Given the description of an element on the screen output the (x, y) to click on. 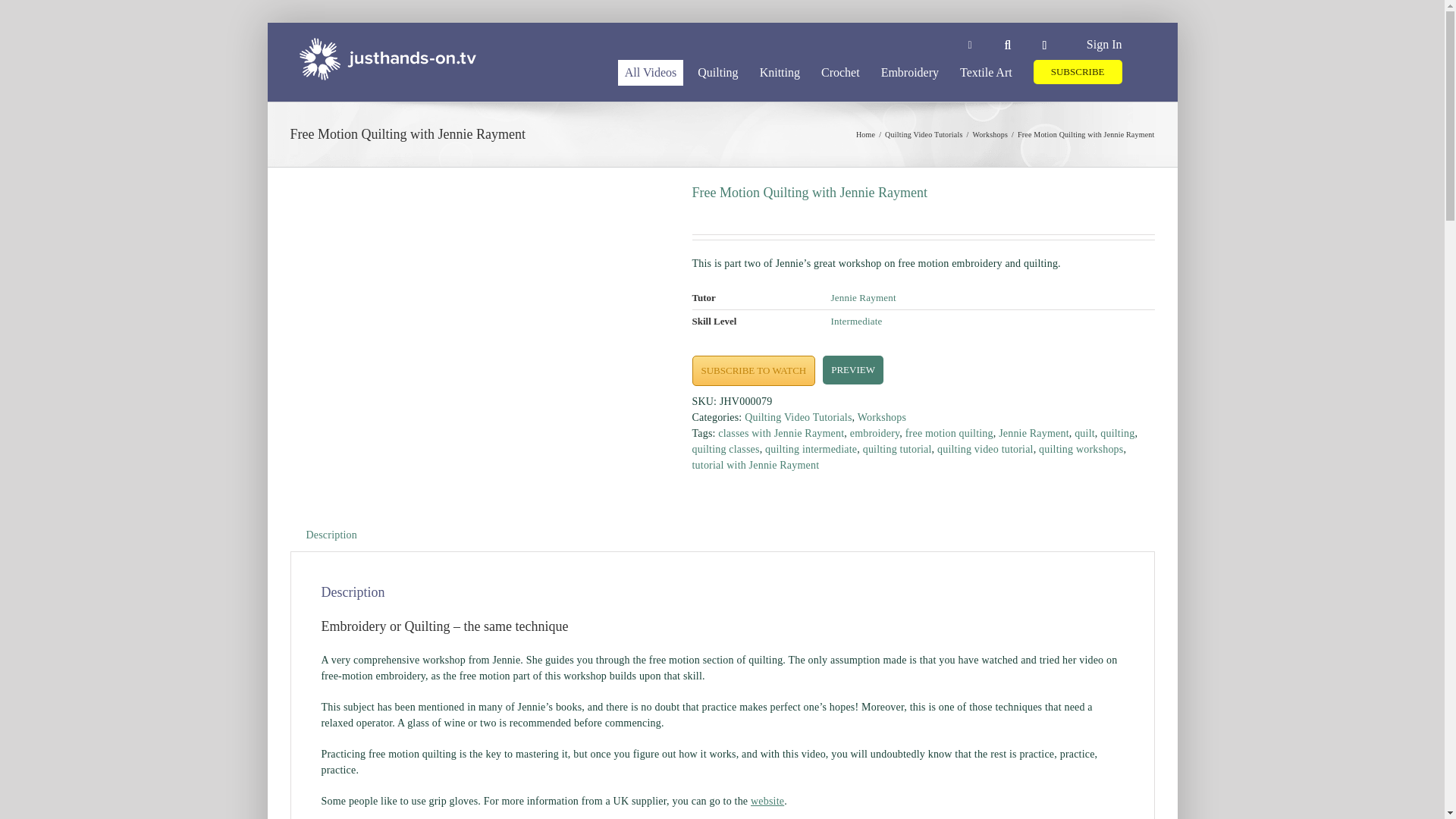
Knitting (779, 71)
All Videos (650, 71)
Quilting (717, 71)
Crochet (839, 71)
